Given the description of an element on the screen output the (x, y) to click on. 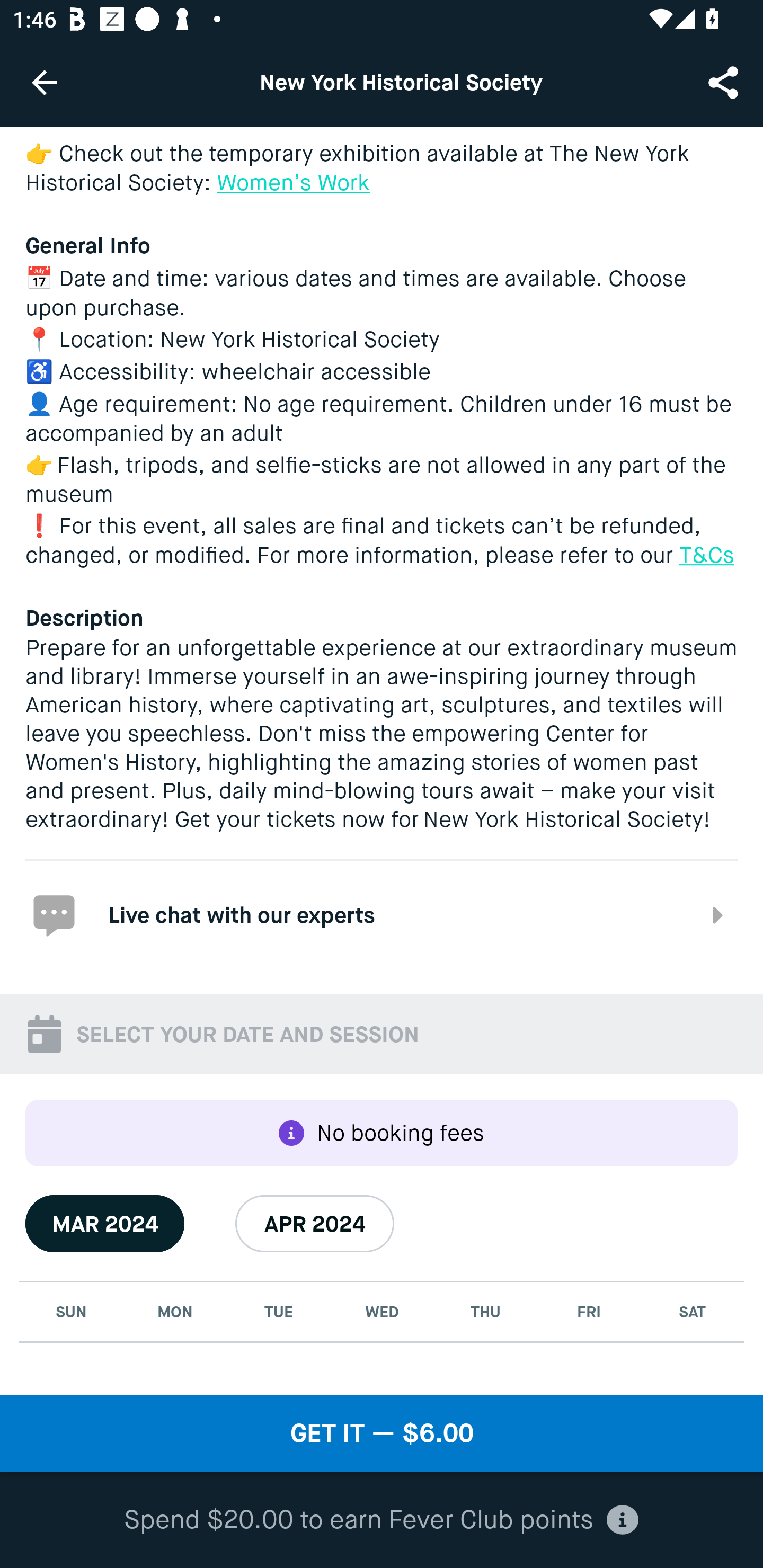
Navigate up (44, 82)
Share (724, 81)
Live chat with our experts (381, 914)
MAR 2024 (104, 1223)
APR 2024 (314, 1223)
Spend $20.00 to earn Fever Club points (381, 1519)
